Given the description of an element on the screen output the (x, y) to click on. 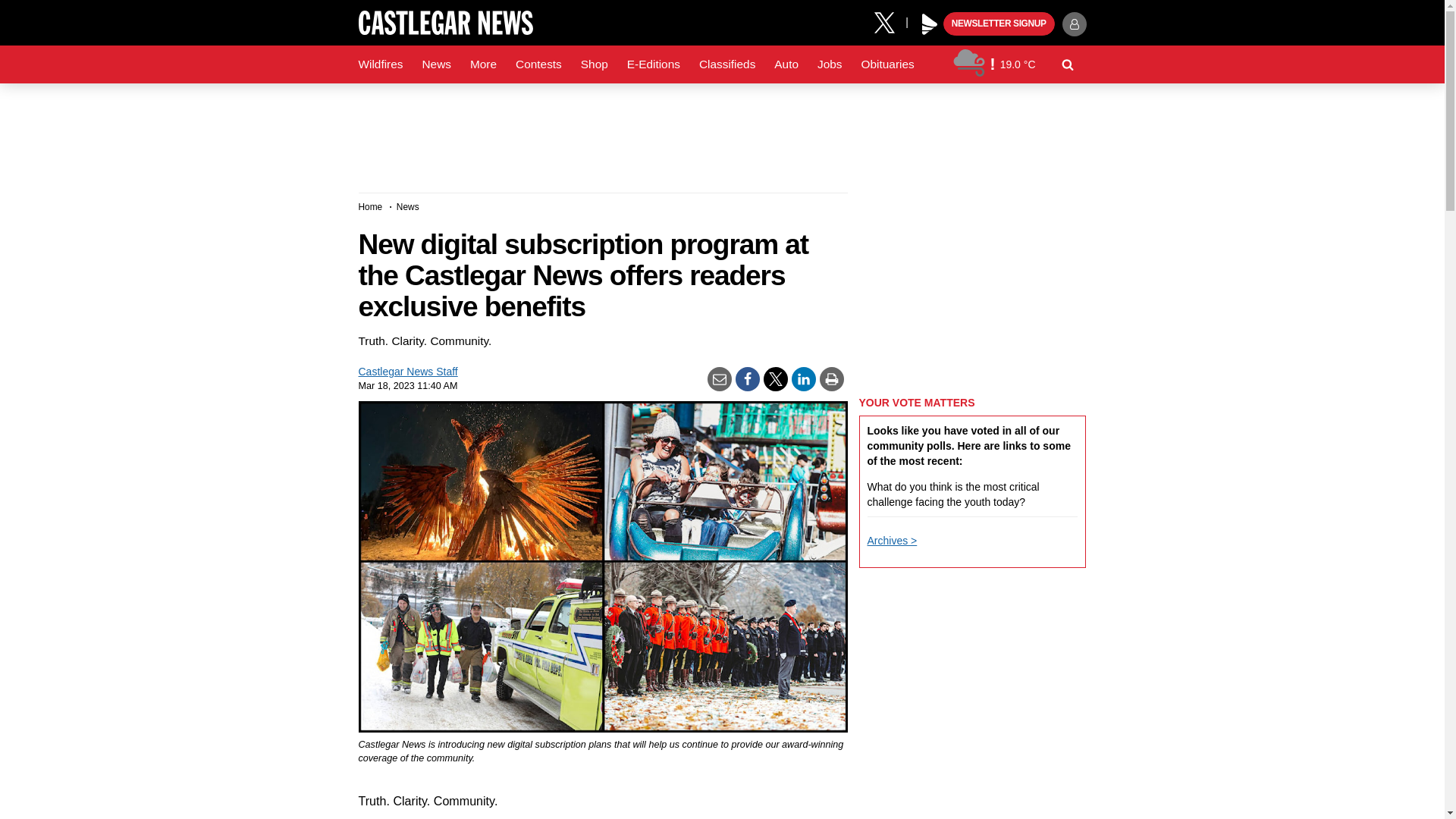
Play (929, 24)
X (889, 21)
NEWSLETTER SIGNUP (998, 24)
Black Press Media (929, 24)
Wildfires (380, 64)
News (435, 64)
